Given the description of an element on the screen output the (x, y) to click on. 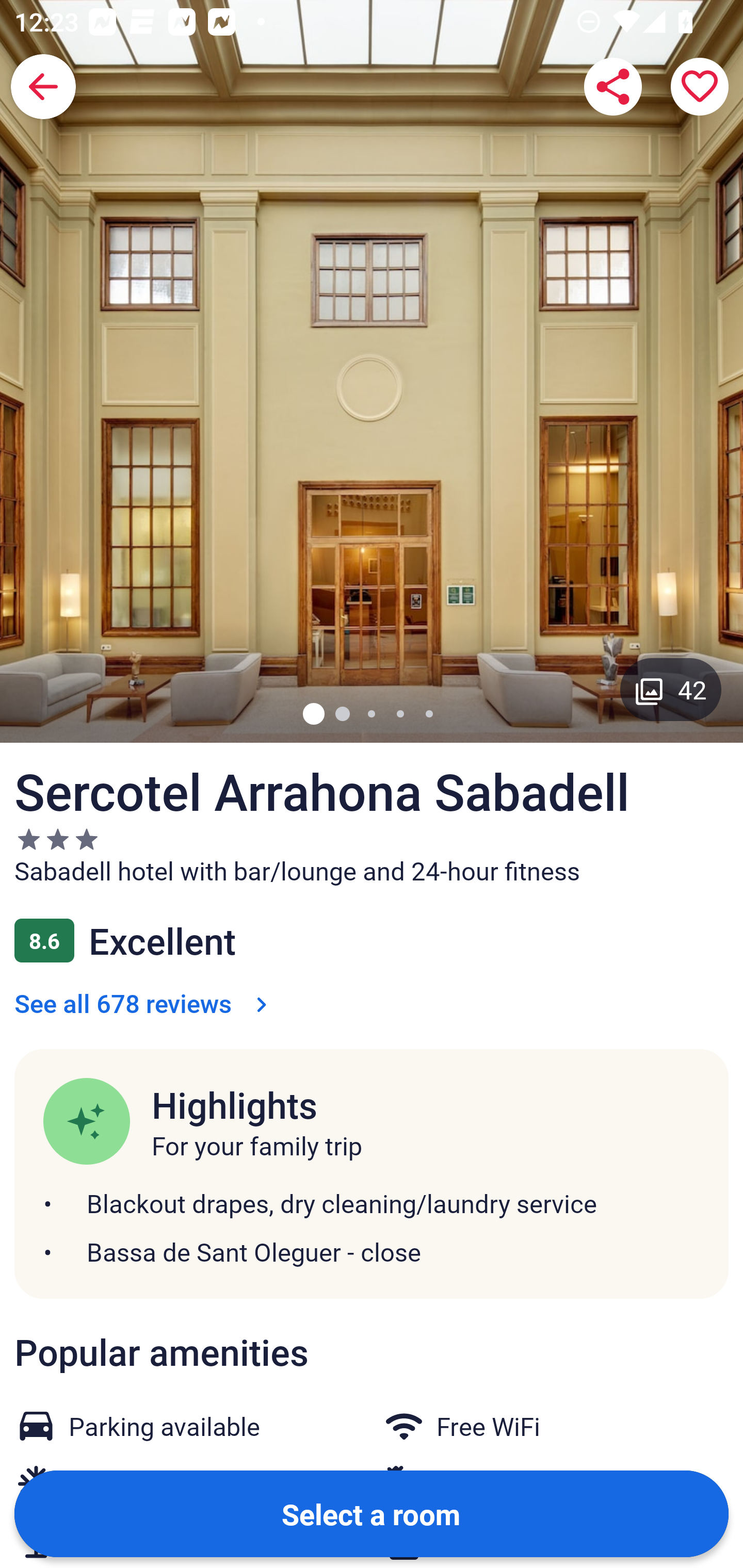
Back (43, 86)
Save property to a trip (699, 86)
Share Sercotel Arrahona Sabadell (612, 87)
Gallery button with 42 images (670, 689)
See all 678 reviews See all 678 reviews Link (144, 1002)
Select a room Button Select a room (371, 1513)
